Given the description of an element on the screen output the (x, y) to click on. 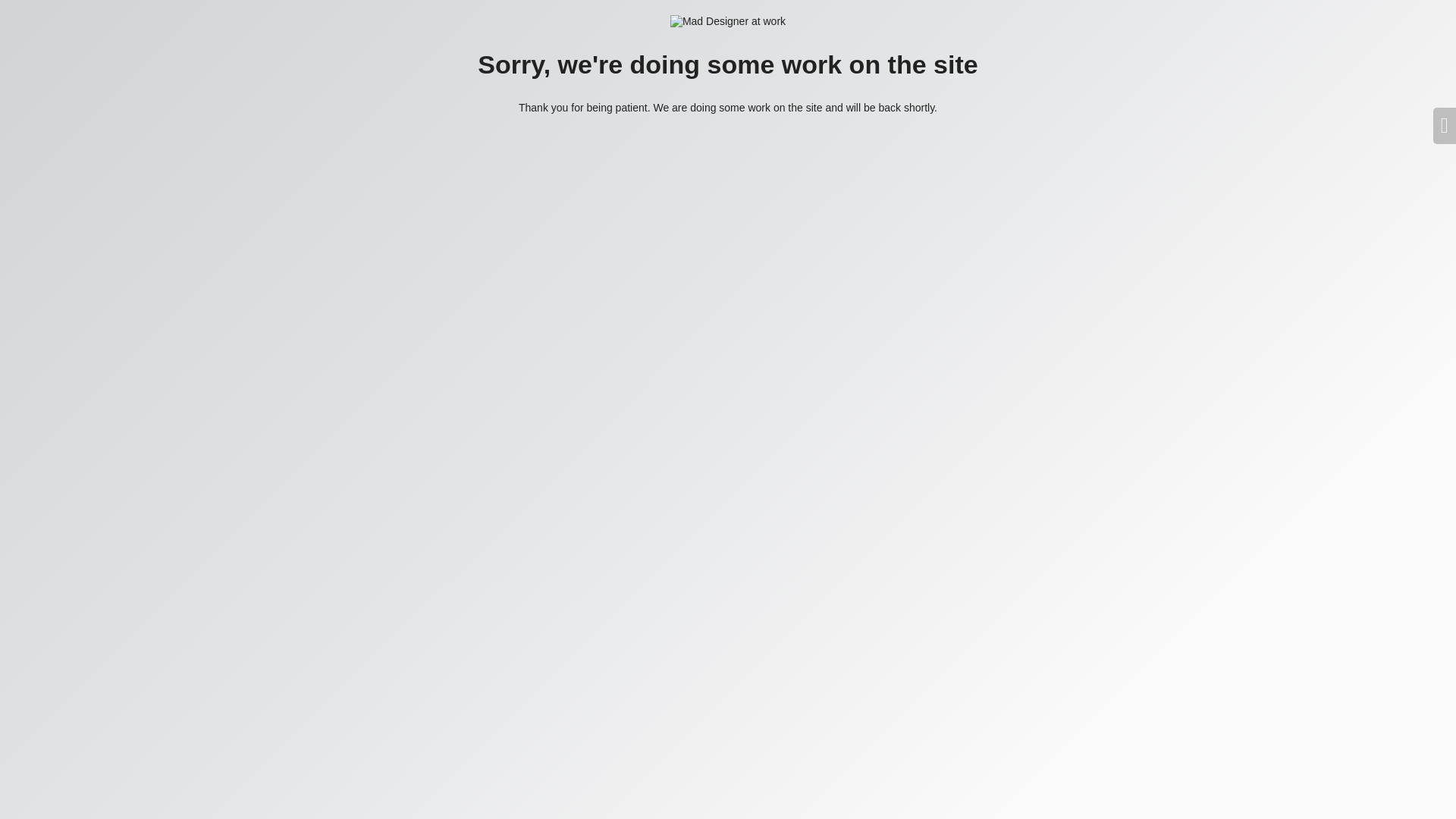
Mad Designer at work (727, 21)
